Given the description of an element on the screen output the (x, y) to click on. 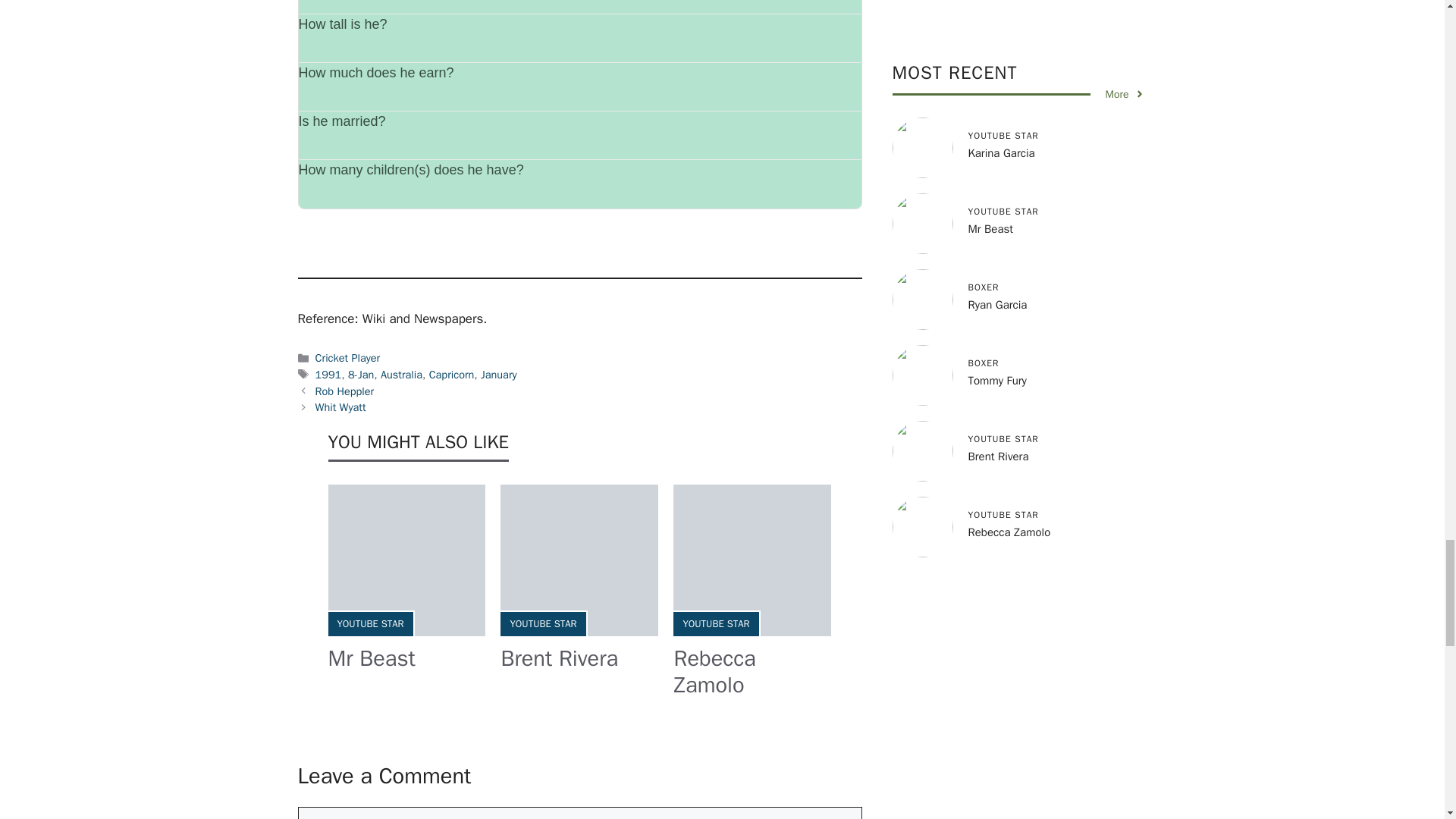
Capricorn (451, 374)
Brent Rivera (558, 658)
Rob Heppler (344, 391)
Mr Beast (370, 658)
Whit Wyatt (340, 407)
YOUTUBE STAR (542, 623)
Australia (401, 374)
January (498, 374)
YOUTUBE STAR (369, 623)
Cricket Player (347, 357)
YOUTUBE STAR (715, 623)
Rebecca Zamolo (713, 671)
1991 (328, 374)
8-Jan (360, 374)
